Given the description of an element on the screen output the (x, y) to click on. 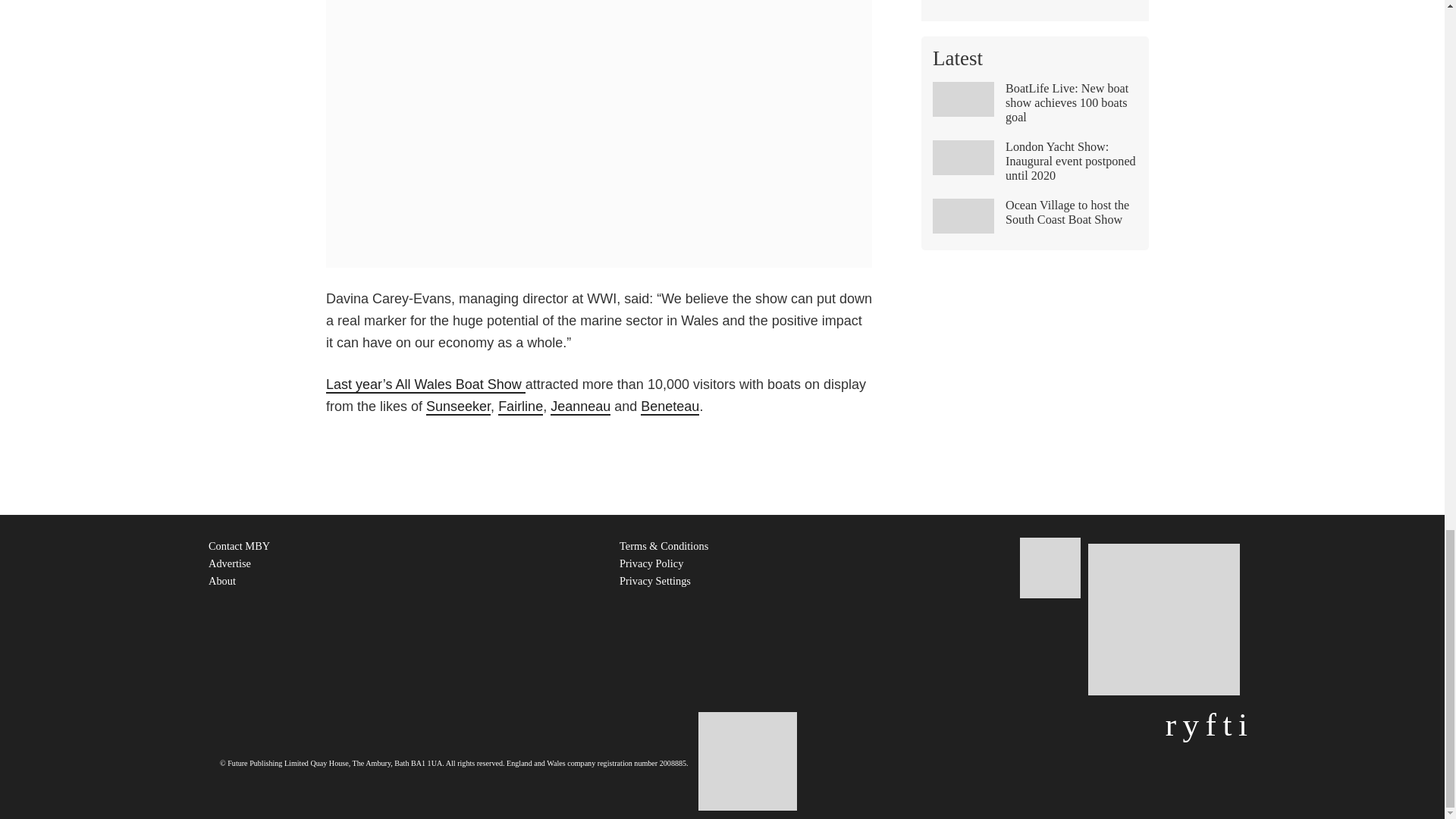
What to see and do at the 2014 All-Wales Boat Show - MBY.com (425, 384)
Jeanneau News - MBY.com (580, 406)
BoatLife Live: New boat show achieves 100 boats goal (1035, 108)
London Yacht Show: Inaugural event postponed until 2020 (1035, 167)
Ocean Village to host the South Coast Boat Show (1035, 219)
Beneteau News - MBY.com (669, 406)
Sunseeker news - MBY.com (458, 406)
Fairline news - MBY.com (520, 406)
